Given the description of an element on the screen output the (x, y) to click on. 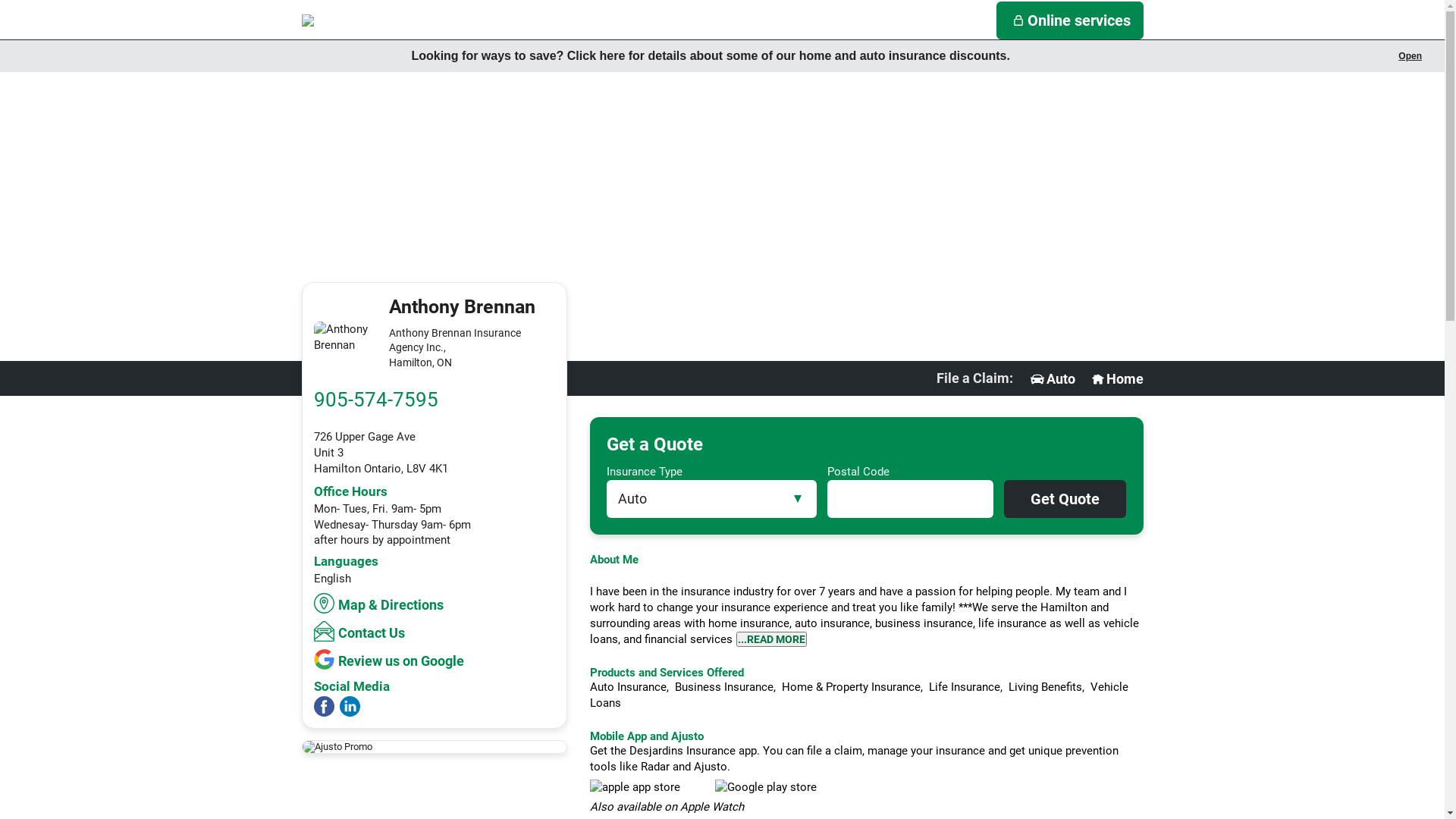
Open Element type: text (1409, 55)
Auto Element type: text (1051, 378)
Navigate to Desjardins Insurance Element type: hover (377, 20)
Online services Element type: text (1069, 20)
Get Quote Element type: text (1065, 498)
Contact Us Element type: text (360, 631)
...READ MORE Element type: text (770, 638)
Home Element type: text (1115, 378)
905-574-7595 Element type: text (375, 399)
Map & Directions Element type: text (380, 603)
Review us on Google Element type: text (390, 659)
